Given the description of an element on the screen output the (x, y) to click on. 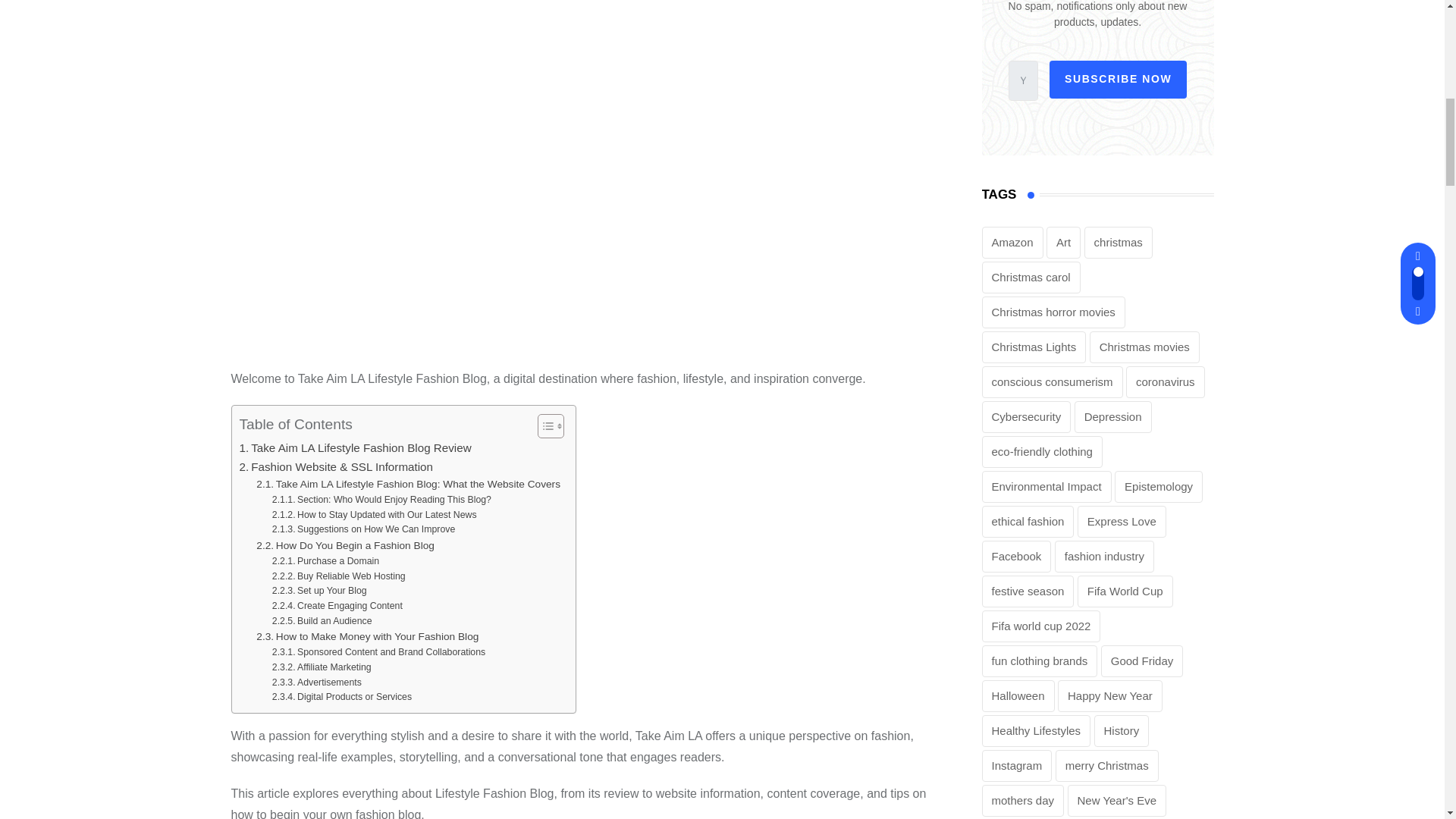
Section: Who Would Enjoy Reading This Blog? (382, 500)
Take Aim LA Lifestyle Fashion Blog Review (355, 447)
How to Stay Updated with Our Latest News (374, 515)
Take Aim LA Lifestyle Fashion Blog: What the Website Covers (408, 484)
